Given the description of an element on the screen output the (x, y) to click on. 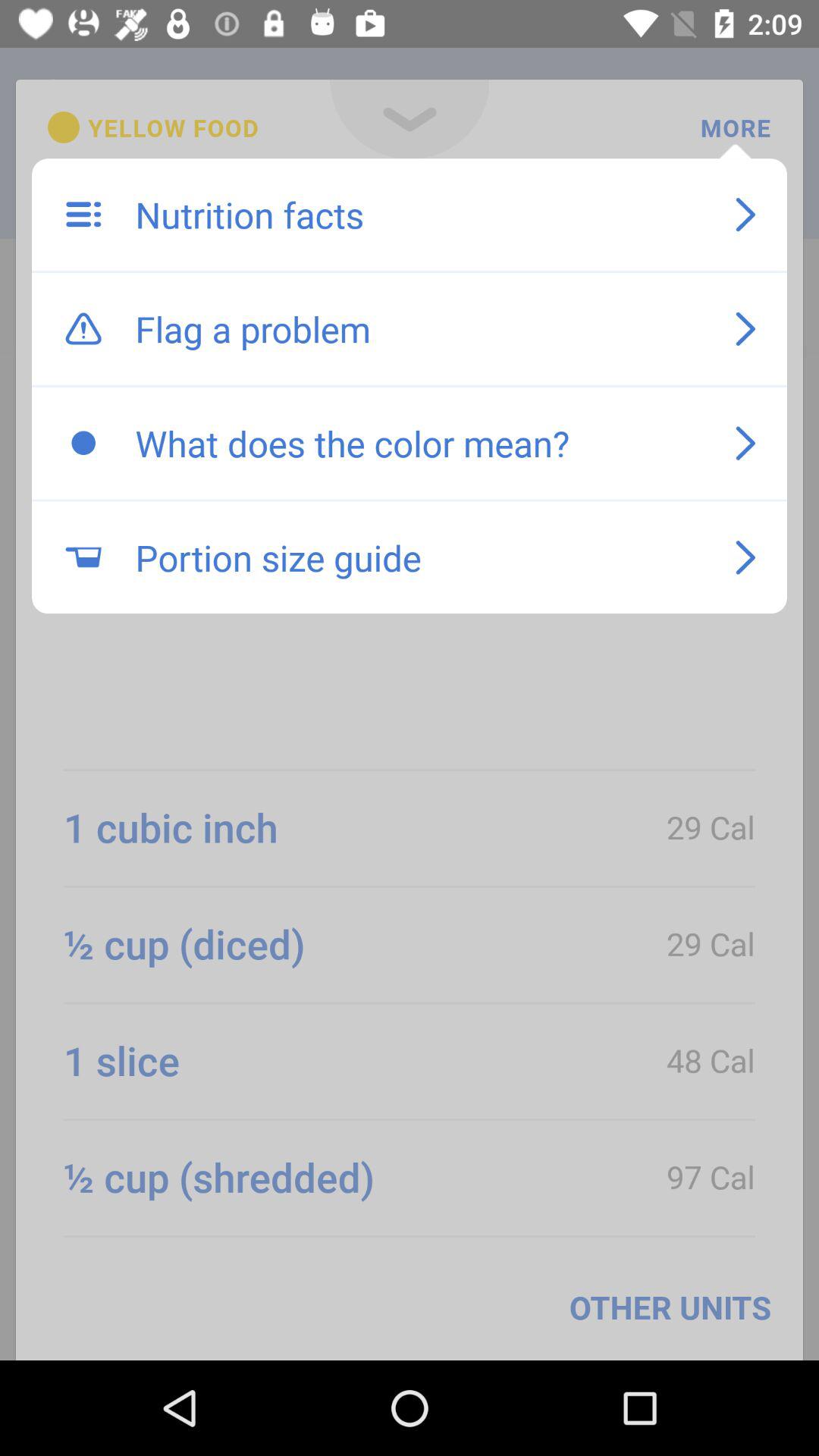
turn off the icon below what does the (419, 557)
